Given the description of an element on the screen output the (x, y) to click on. 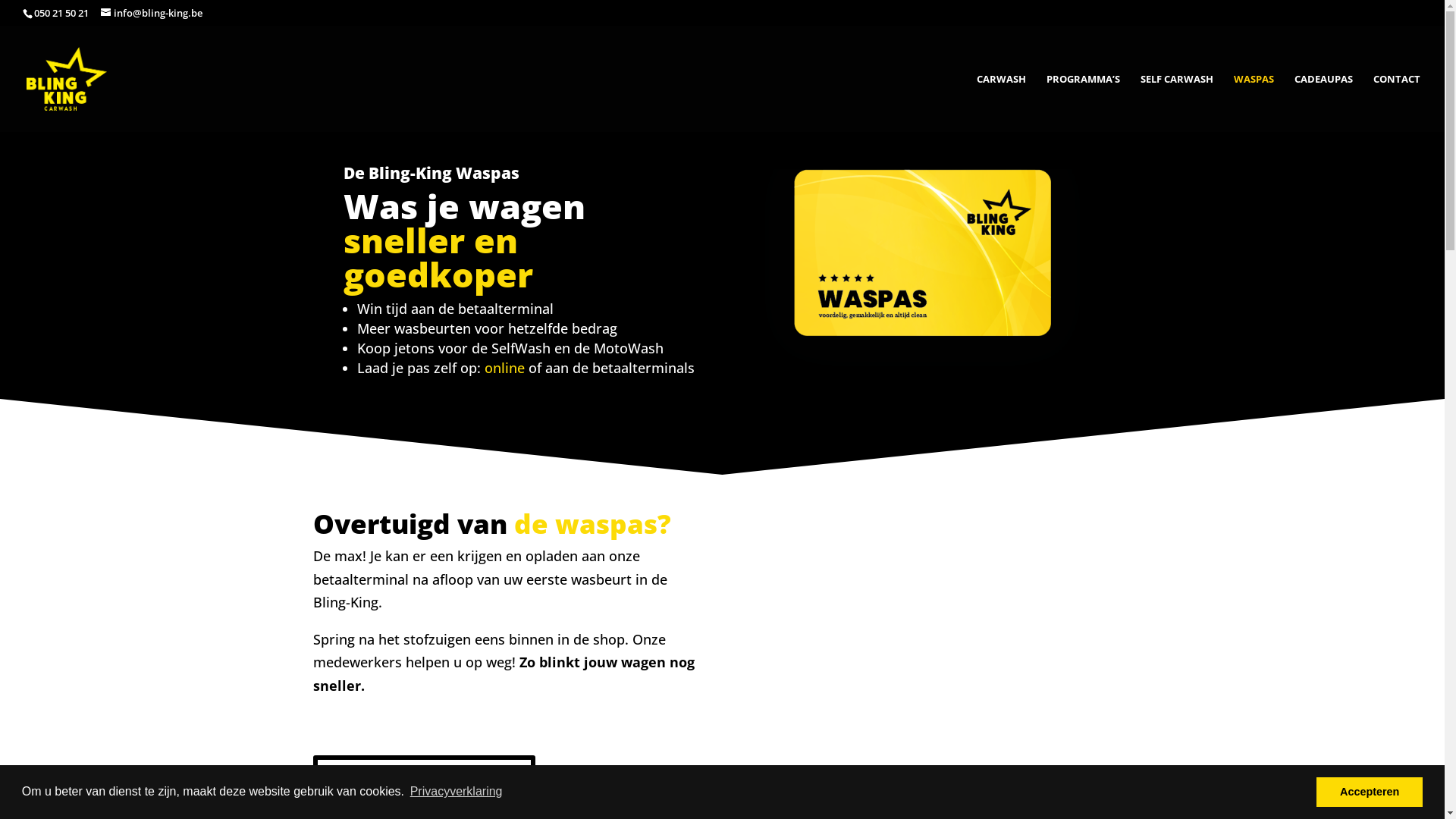
CONTACT Element type: text (1396, 101)
CADEAUPAS Element type: text (1323, 101)
CARWASH Element type: text (1001, 101)
SELF CARWASH Element type: text (1176, 101)
050 21 50 21 Element type: text (61, 12)
waspas1 Element type: hover (922, 278)
LAAD JE WASPAS OP Element type: text (423, 777)
info@bling-king.be Element type: text (151, 12)
Accepteren Element type: text (1369, 791)
Privacyverklaring Element type: text (456, 791)
online Element type: text (503, 367)
WASPAS Element type: text (1253, 101)
